Given the description of an element on the screen output the (x, y) to click on. 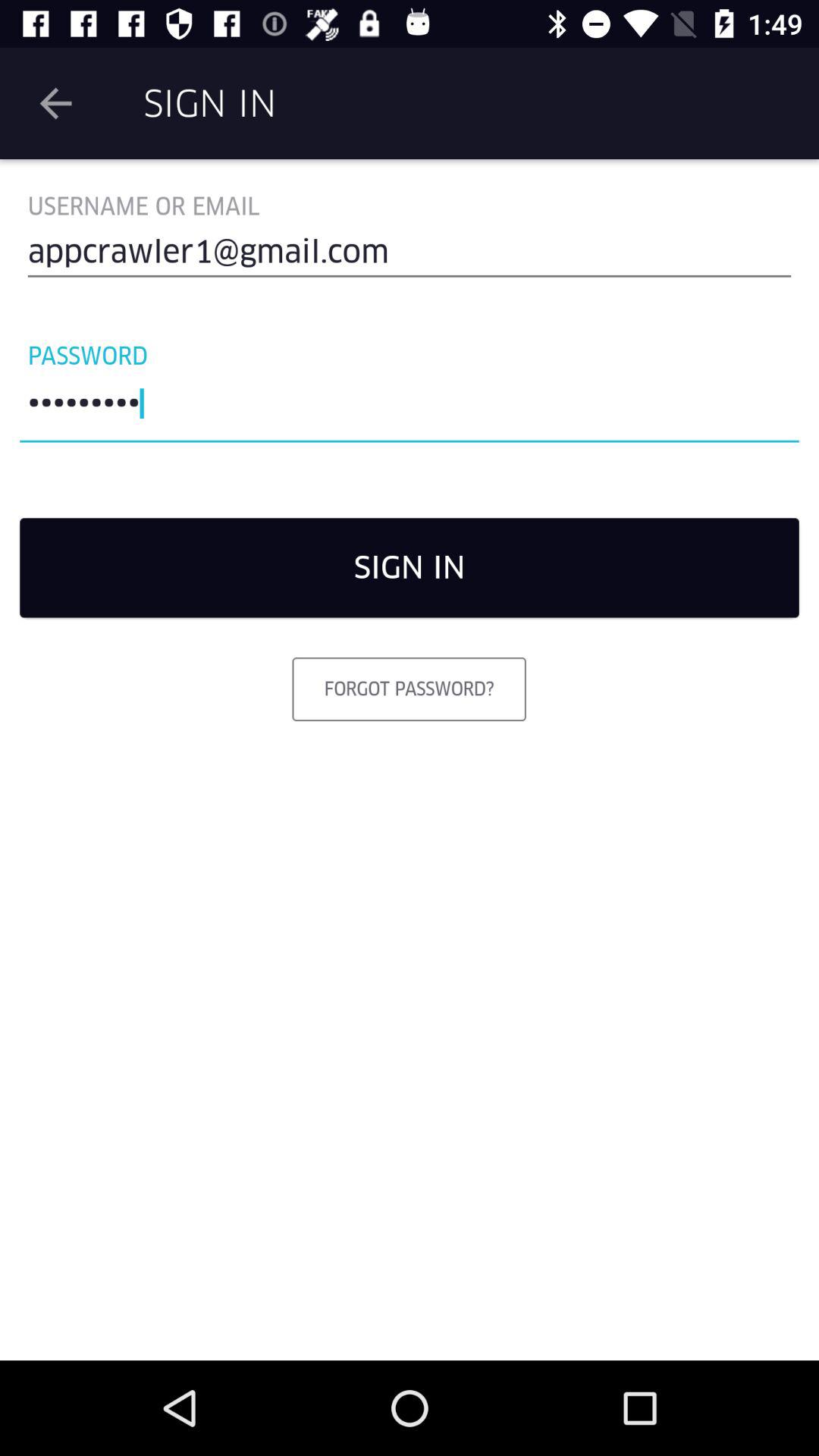
select item next to the sign in item (55, 103)
